Given the description of an element on the screen output the (x, y) to click on. 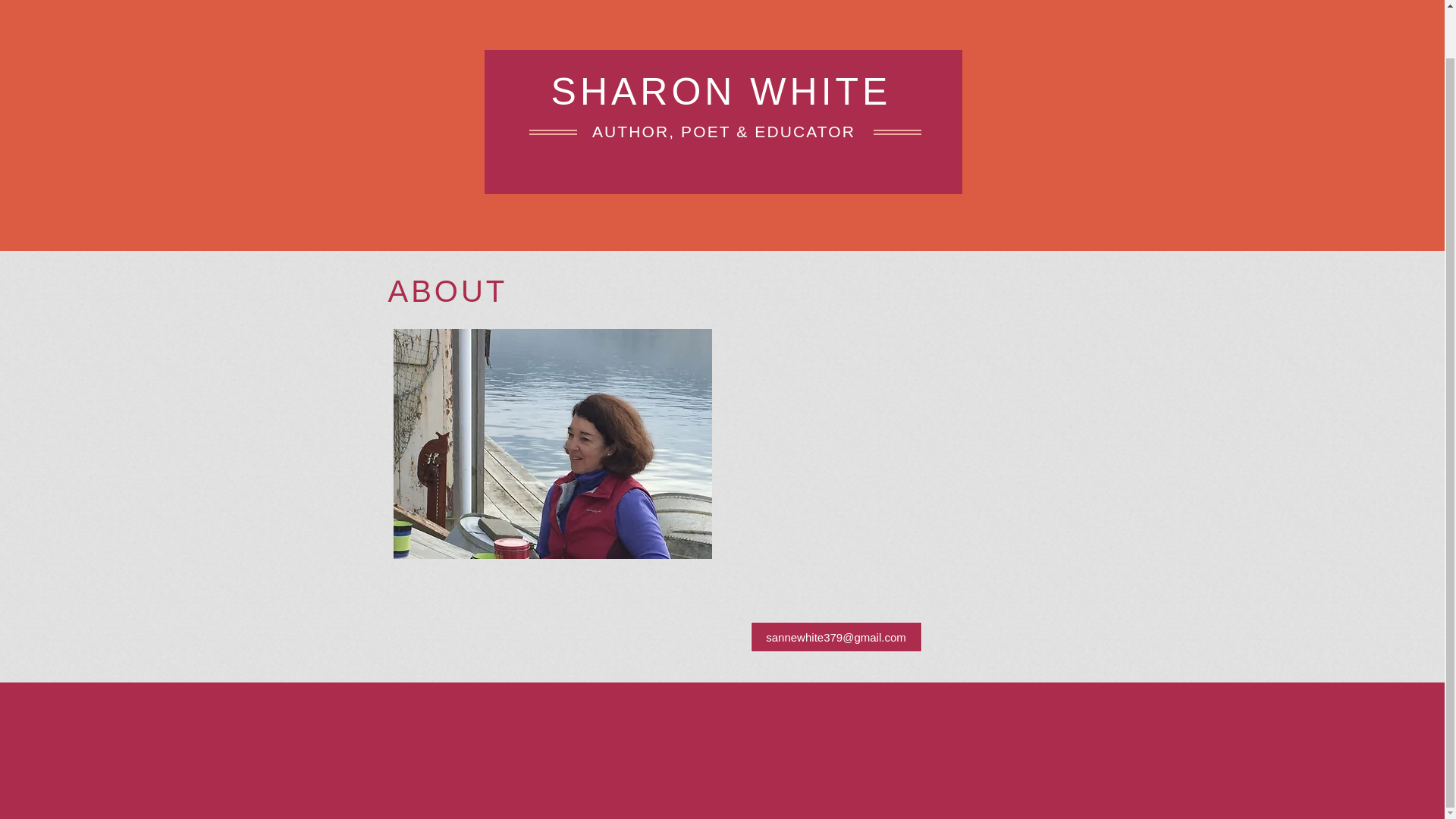
SHARON WHITE (721, 91)
